Given the description of an element on the screen output the (x, y) to click on. 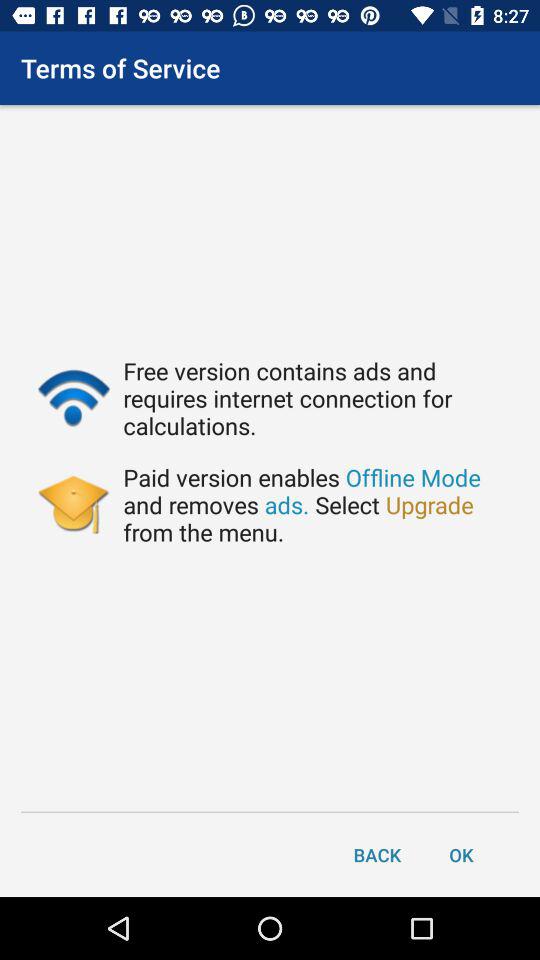
select icon to the right of the back icon (461, 854)
